Given the description of an element on the screen output the (x, y) to click on. 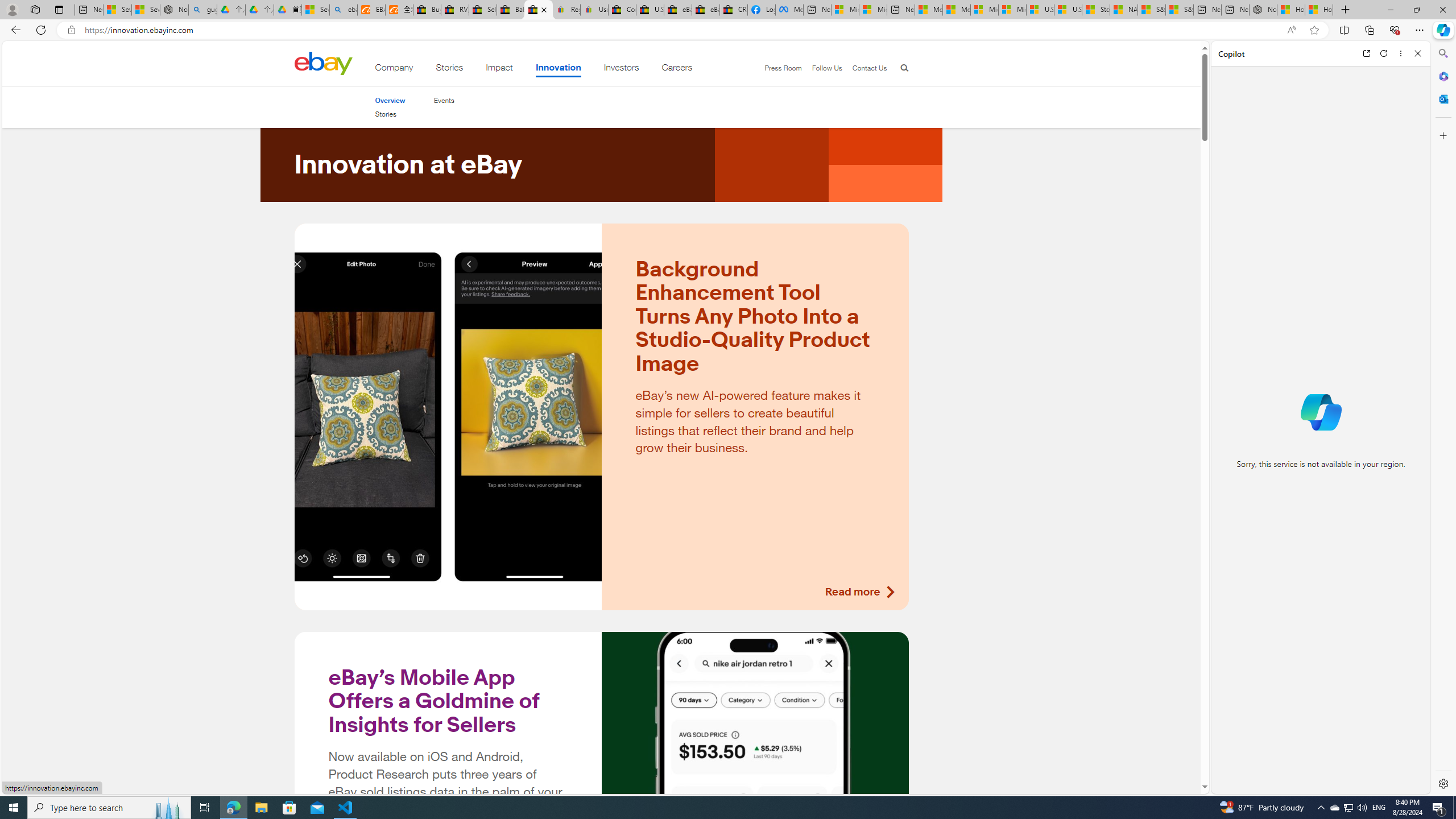
Events (443, 100)
Open link in new tab (1366, 53)
Baby Keepsakes & Announcements for sale | eBay (510, 9)
Contact Us (863, 68)
How to Use a Monitor With Your Closed Laptop (1319, 9)
Impact (499, 69)
Innovation - eBay Inc. (538, 9)
